Given the description of an element on the screen output the (x, y) to click on. 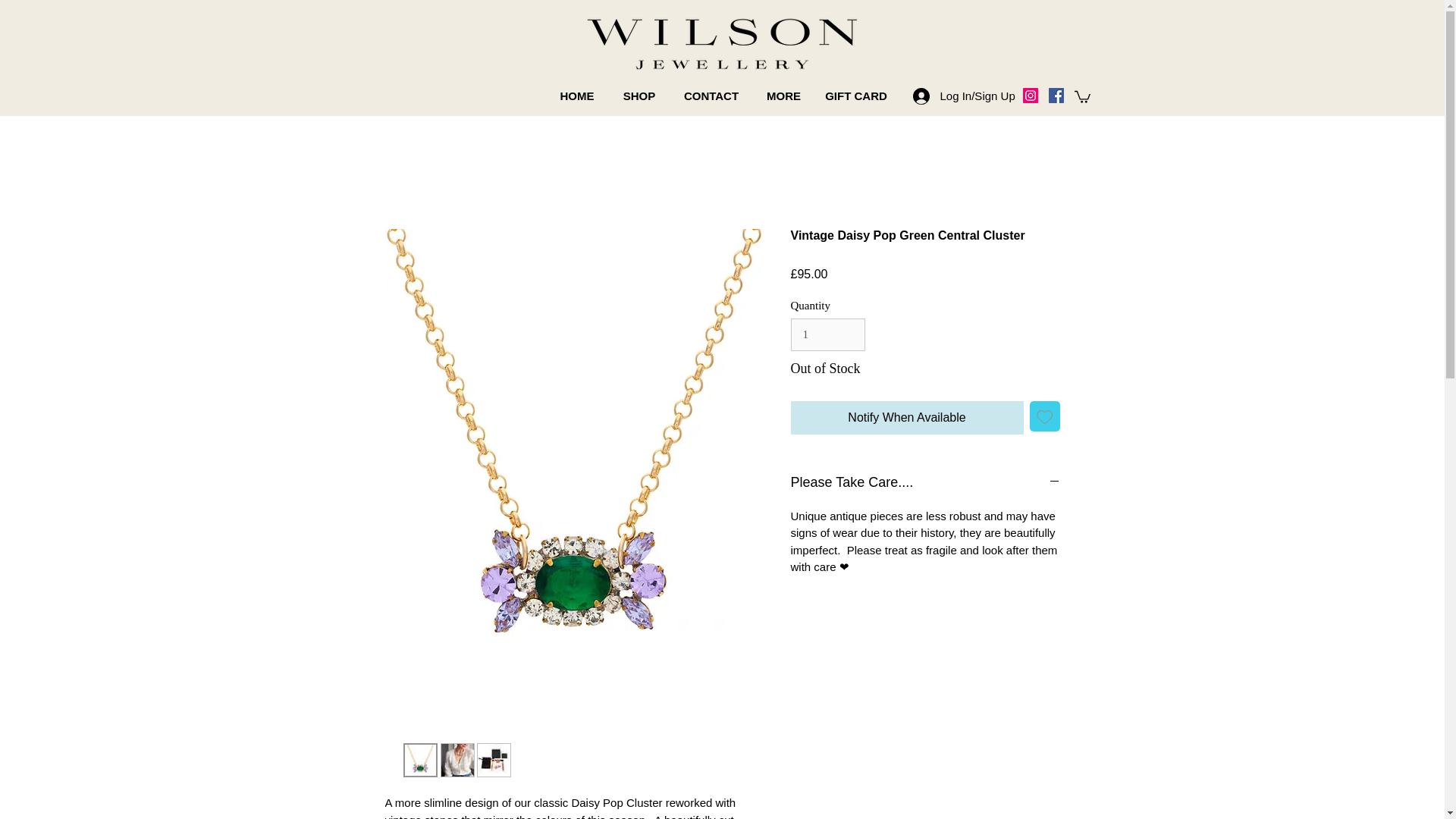
Notify When Available (906, 417)
CONTACT (710, 95)
1 (827, 335)
GIFT CARD (855, 95)
SHOP (639, 95)
MORE (783, 95)
Please Take Care.... (924, 482)
HOME (576, 95)
